Given the description of an element on the screen output the (x, y) to click on. 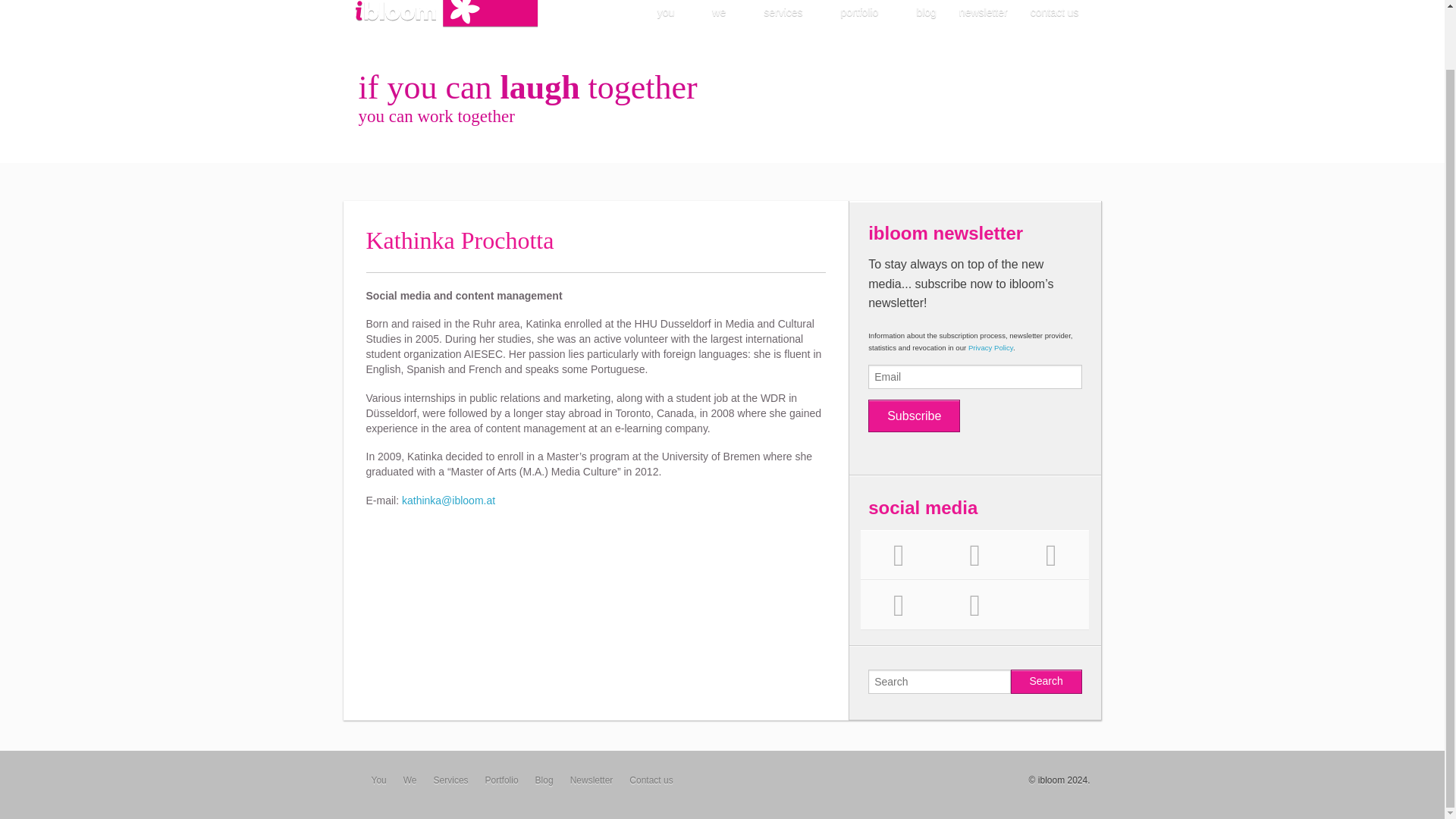
ibloom (447, 12)
you (673, 12)
Search (1045, 681)
Subscribe (913, 415)
ibloom (447, 12)
